Given the description of an element on the screen output the (x, y) to click on. 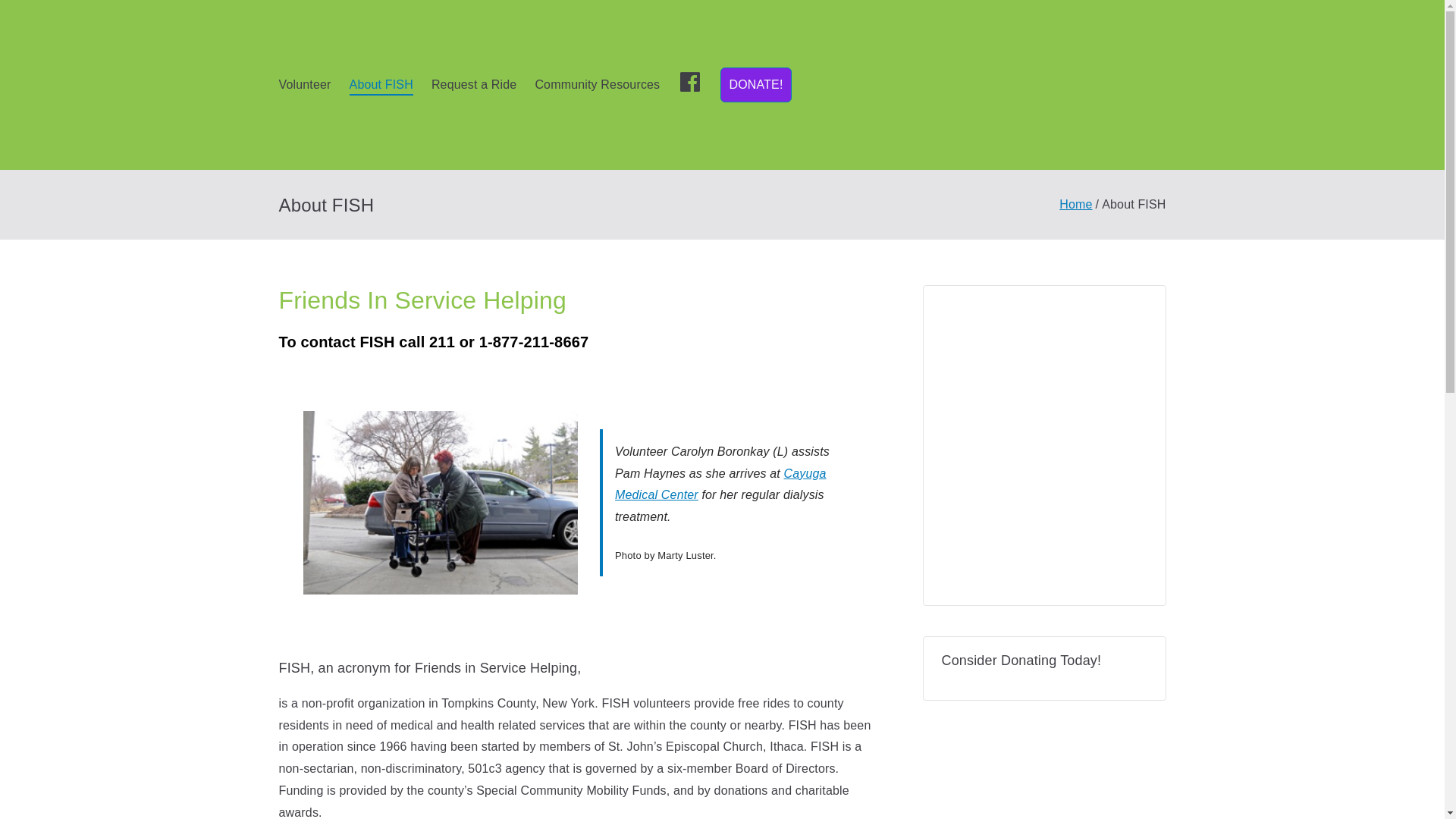
FISH on Facebook (689, 85)
DONATE! (755, 85)
Cayuga Medical Center (720, 484)
Volunteer (305, 85)
About FISH (381, 85)
Request a Ride (473, 85)
Community Resources (596, 85)
Home (1075, 204)
